Given the description of an element on the screen output the (x, y) to click on. 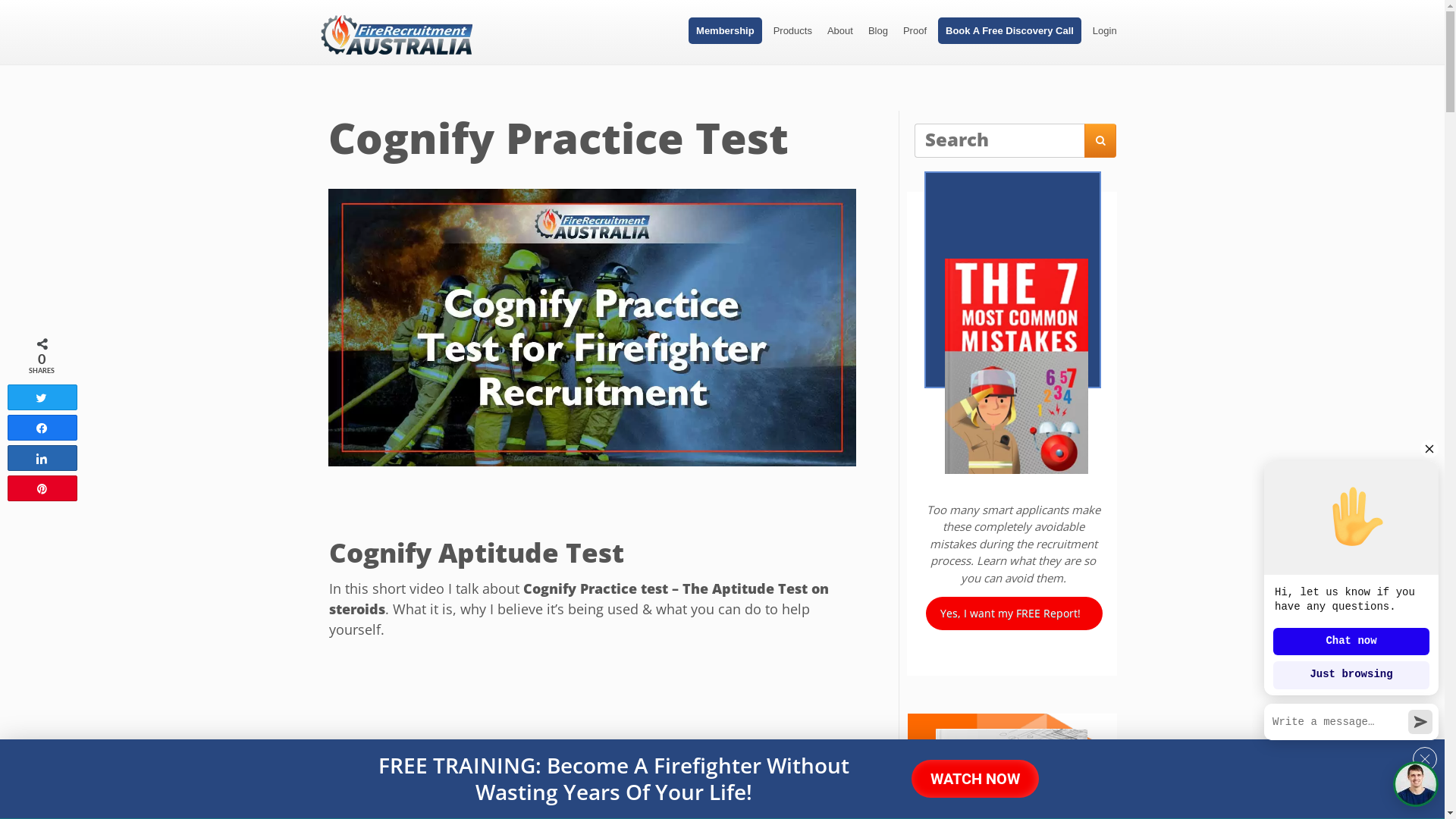
Yes, I want my FREE Report! Element type: text (1013, 613)
Cognify Practice Test for Firefighter Recruitment Element type: hover (591, 327)
About Element type: text (840, 29)
Membership Element type: text (725, 29)
Proof Element type: text (914, 29)
WATCH NOW Element type: text (974, 778)
Login Element type: text (1104, 29)
The-7-Most-Common-Mistakes-230 Element type: hover (1016, 365)
Blog Element type: text (878, 29)
Products Element type: text (792, 29)
Book A Free Discovery Call Element type: text (1009, 29)
